Given the description of an element on the screen output the (x, y) to click on. 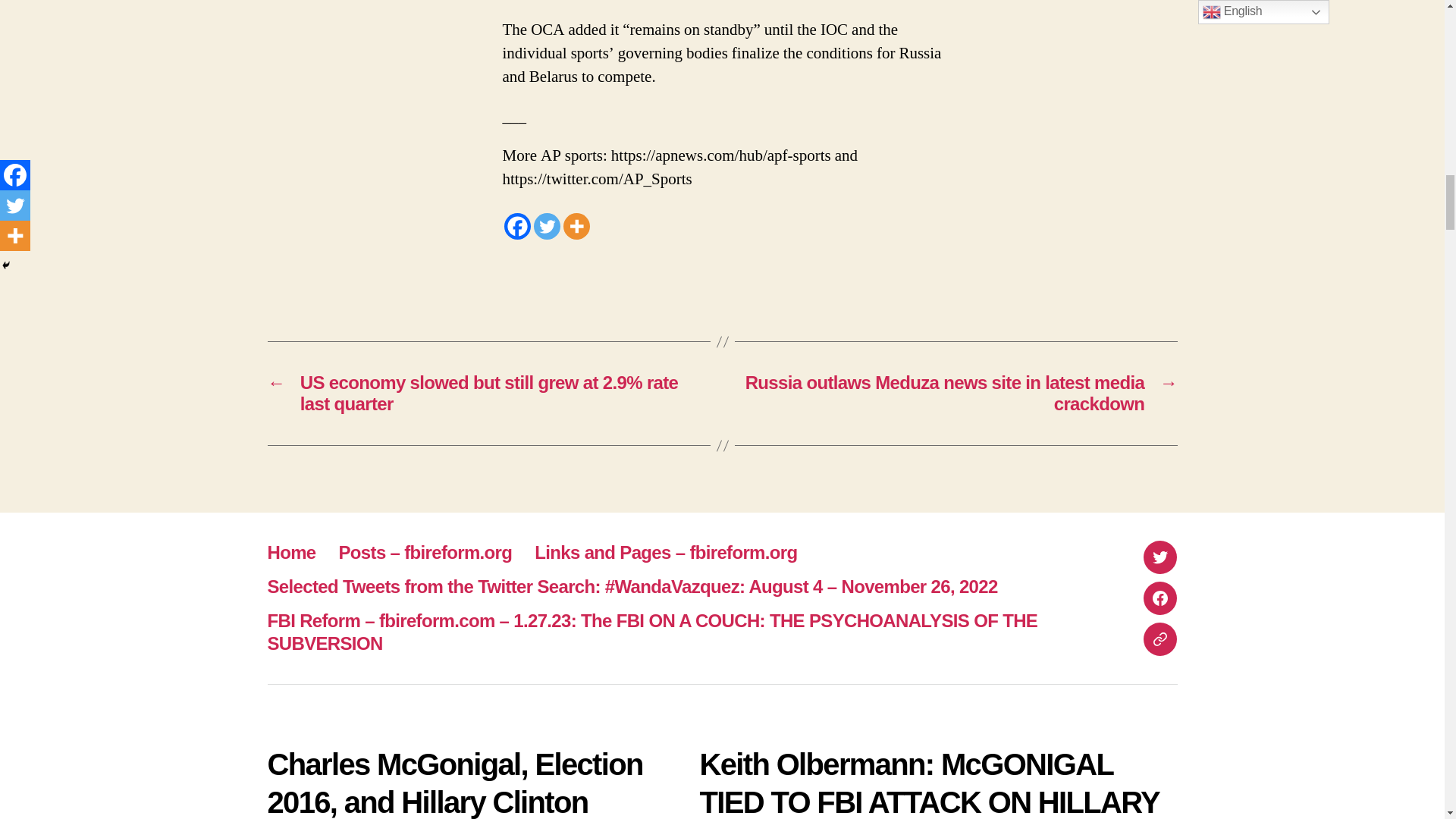
Facebook (516, 225)
Twitter (547, 225)
More (575, 225)
